Given the description of an element on the screen output the (x, y) to click on. 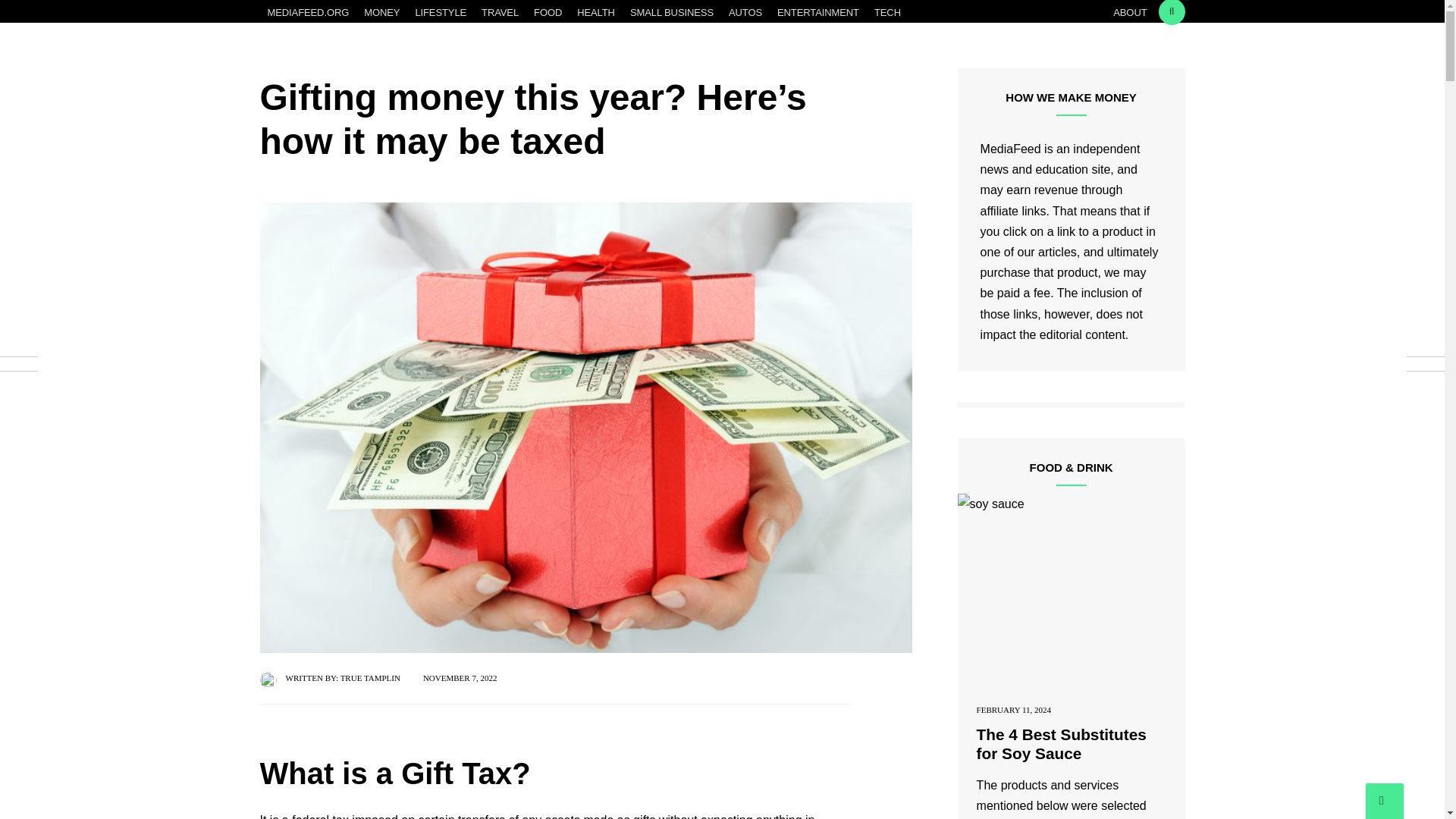
LIFESTYLE (440, 13)
AUTOS (745, 13)
The 4 Best Substitutes for Soy Sauce (1061, 743)
SMALL BUSINESS (671, 13)
HEALTH (596, 13)
TRUE TAMPLIN (370, 677)
MONEY (381, 13)
Posts by True Tamplin (370, 677)
TRAVEL (499, 13)
ENTERTAINMENT (818, 13)
MEDIAFEED.ORG (307, 13)
TECH (887, 13)
The 4 Best Substitutes for Soy Sauce (1071, 593)
FOOD (547, 13)
ABOUT (1129, 13)
